Given the description of an element on the screen output the (x, y) to click on. 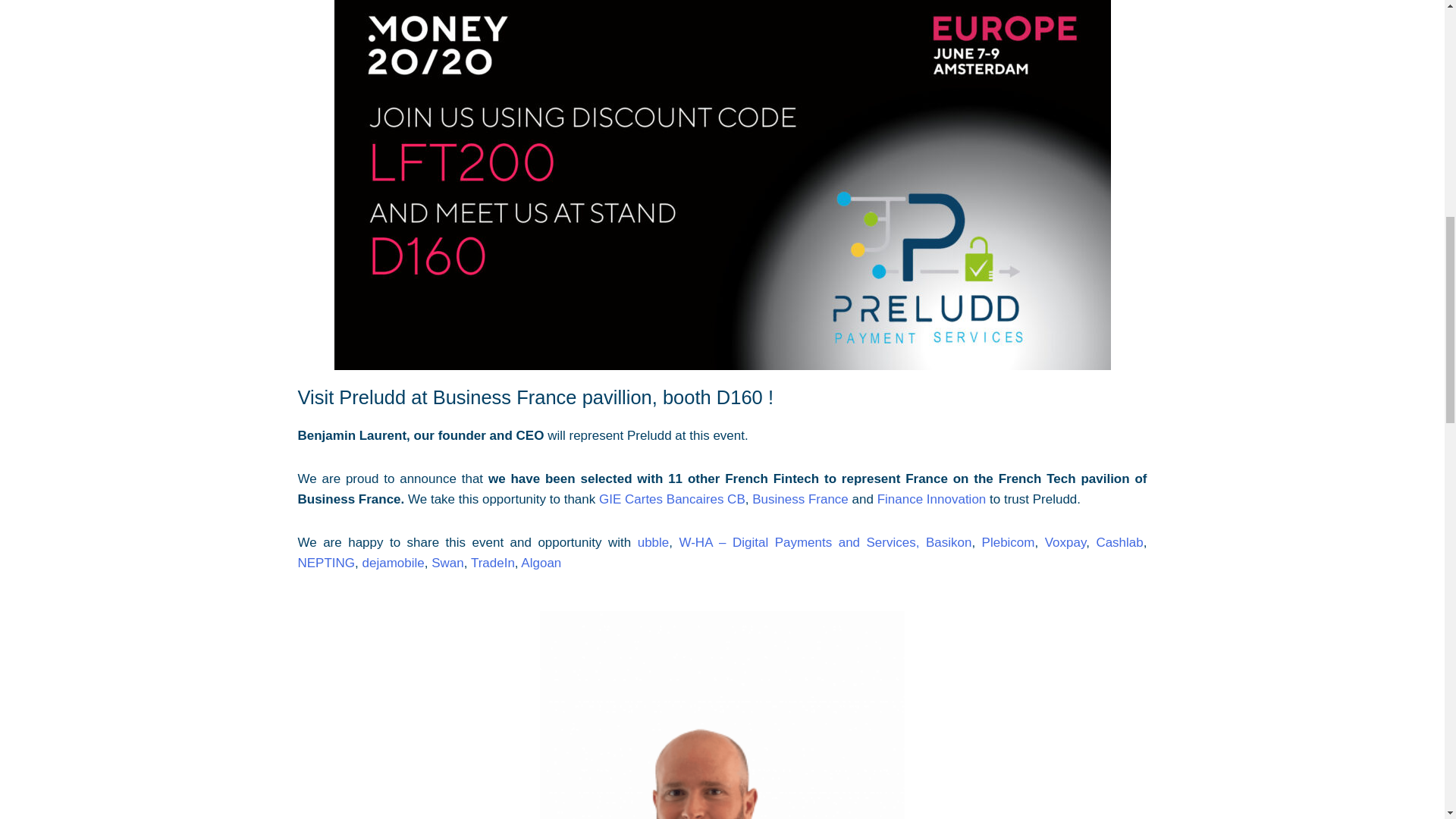
Finance Innovation (932, 499)
Basikon (948, 542)
Business France (800, 499)
GIE Cartes Bancaires CB (671, 499)
ubble (653, 542)
